Given the description of an element on the screen output the (x, y) to click on. 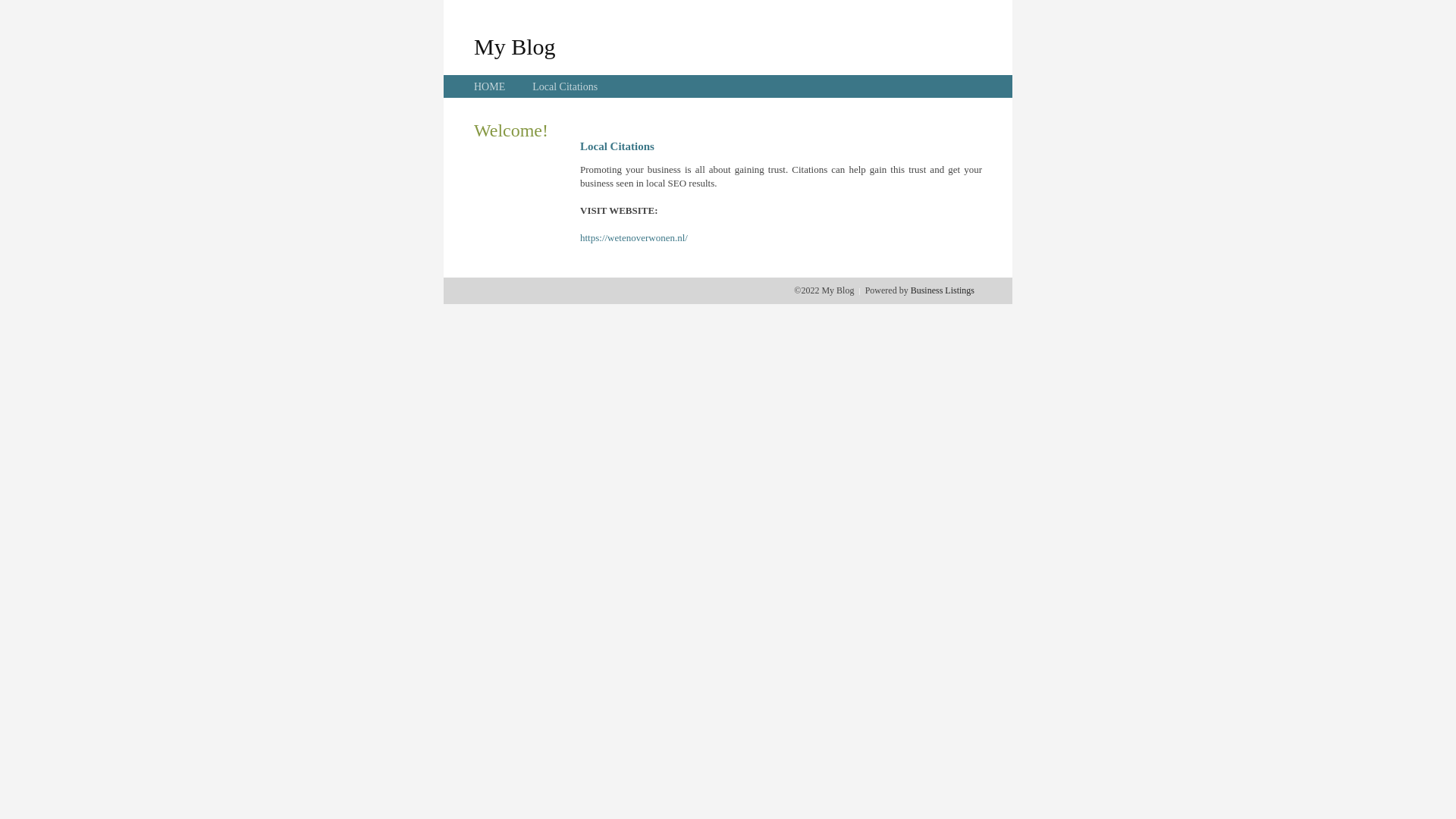
Local Citations Element type: text (564, 86)
Business Listings Element type: text (942, 290)
HOME Element type: text (489, 86)
https://wetenoverwonen.nl/ Element type: text (633, 237)
My Blog Element type: text (514, 46)
